Given the description of an element on the screen output the (x, y) to click on. 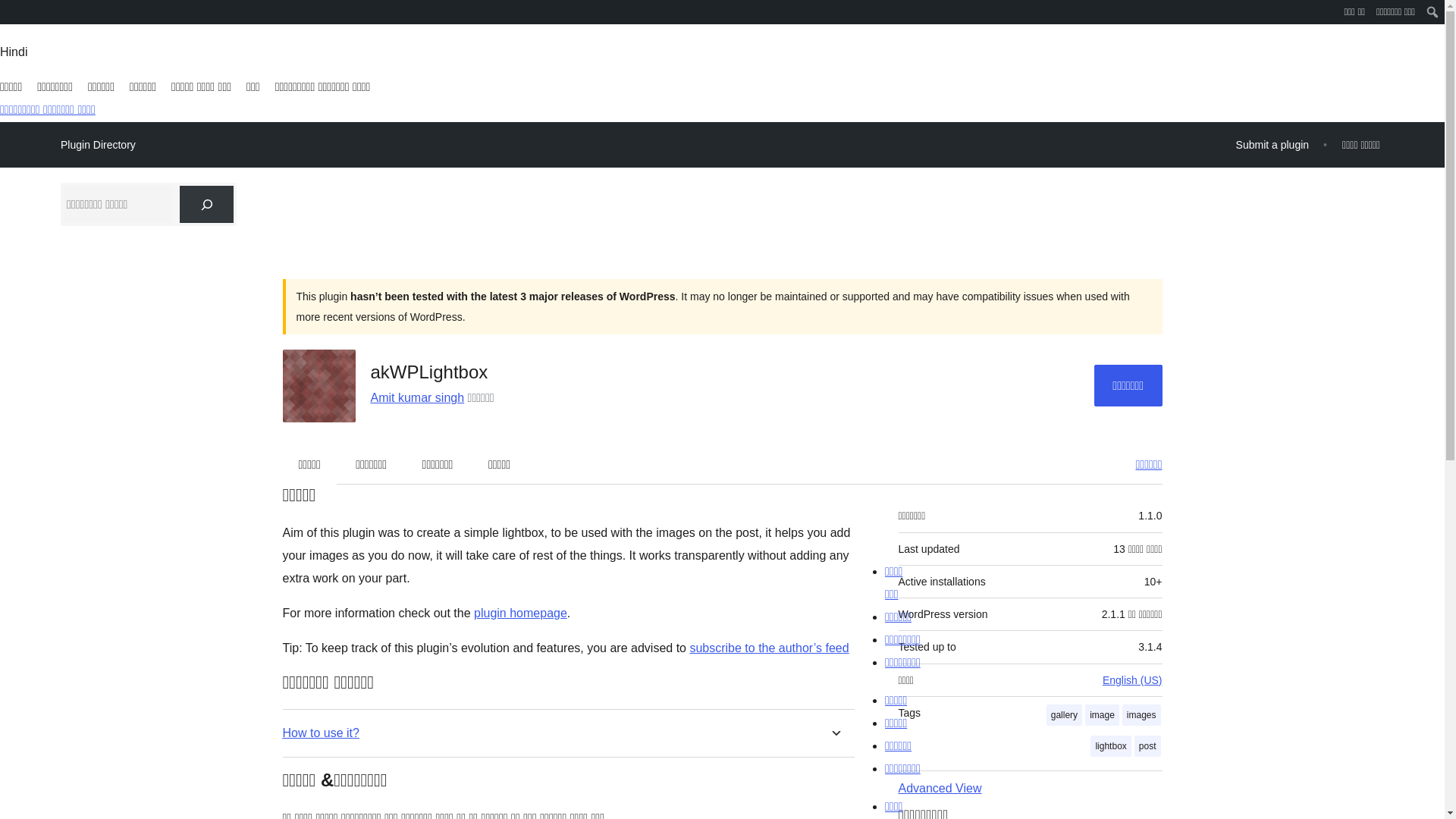
Grab Amiworks RSS Feed (768, 647)
Submit a plugin (1272, 144)
plugin homepage (520, 612)
WordPress.org (10, 16)
Plugin Directory (97, 144)
WordPress.org (10, 10)
akWPLightbox : simple lightbox for wordpress (520, 612)
Amit kumar singh (416, 397)
How to use it? (320, 732)
